Given the description of an element on the screen output the (x, y) to click on. 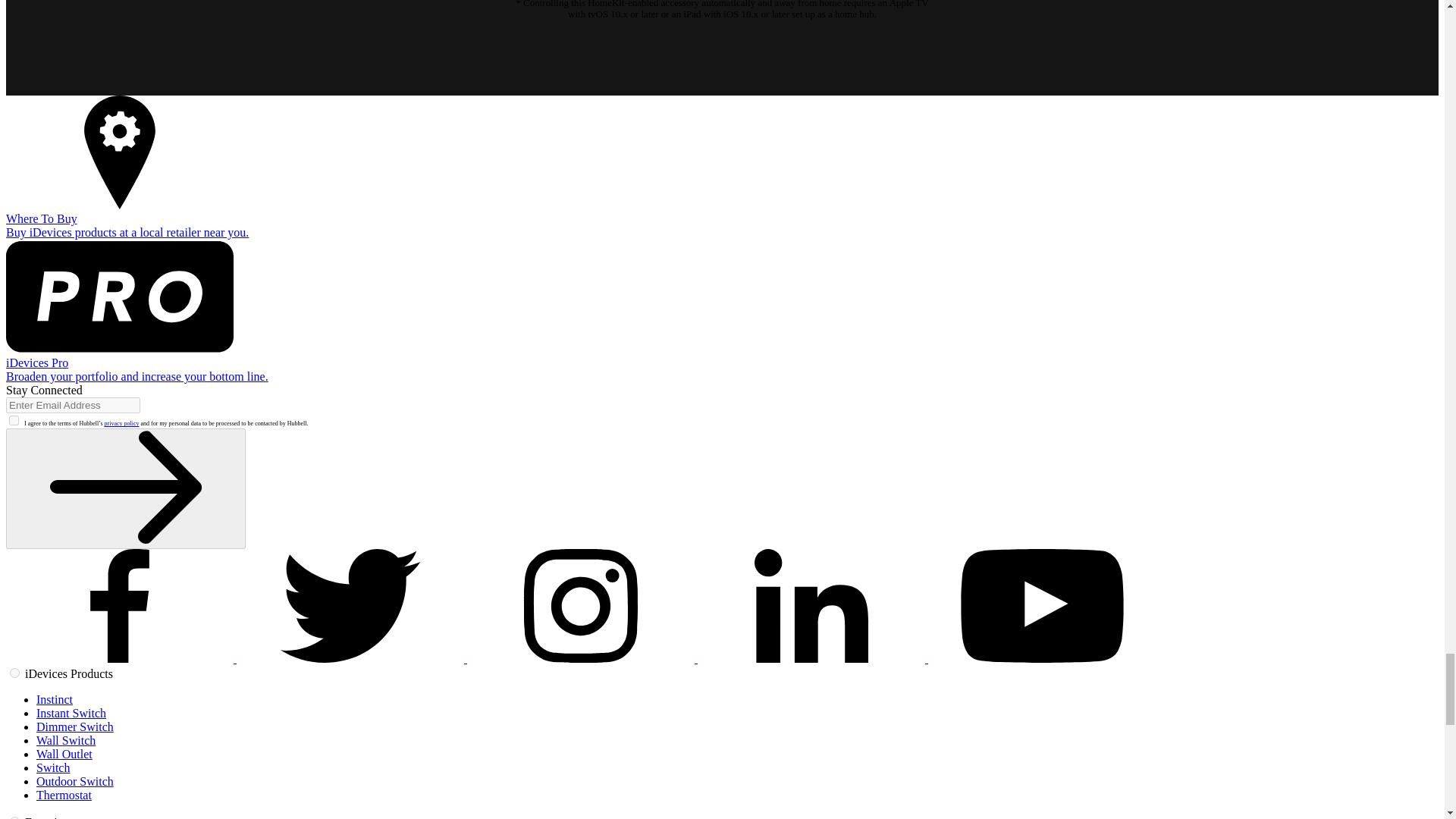
iDevices LinkedIn (812, 658)
on (15, 673)
iDevices Twitter (351, 658)
iDevices Youtube (1042, 658)
Optin (13, 420)
iDevices Instagram (582, 658)
iDevices Facebook (120, 658)
